Given the description of an element on the screen output the (x, y) to click on. 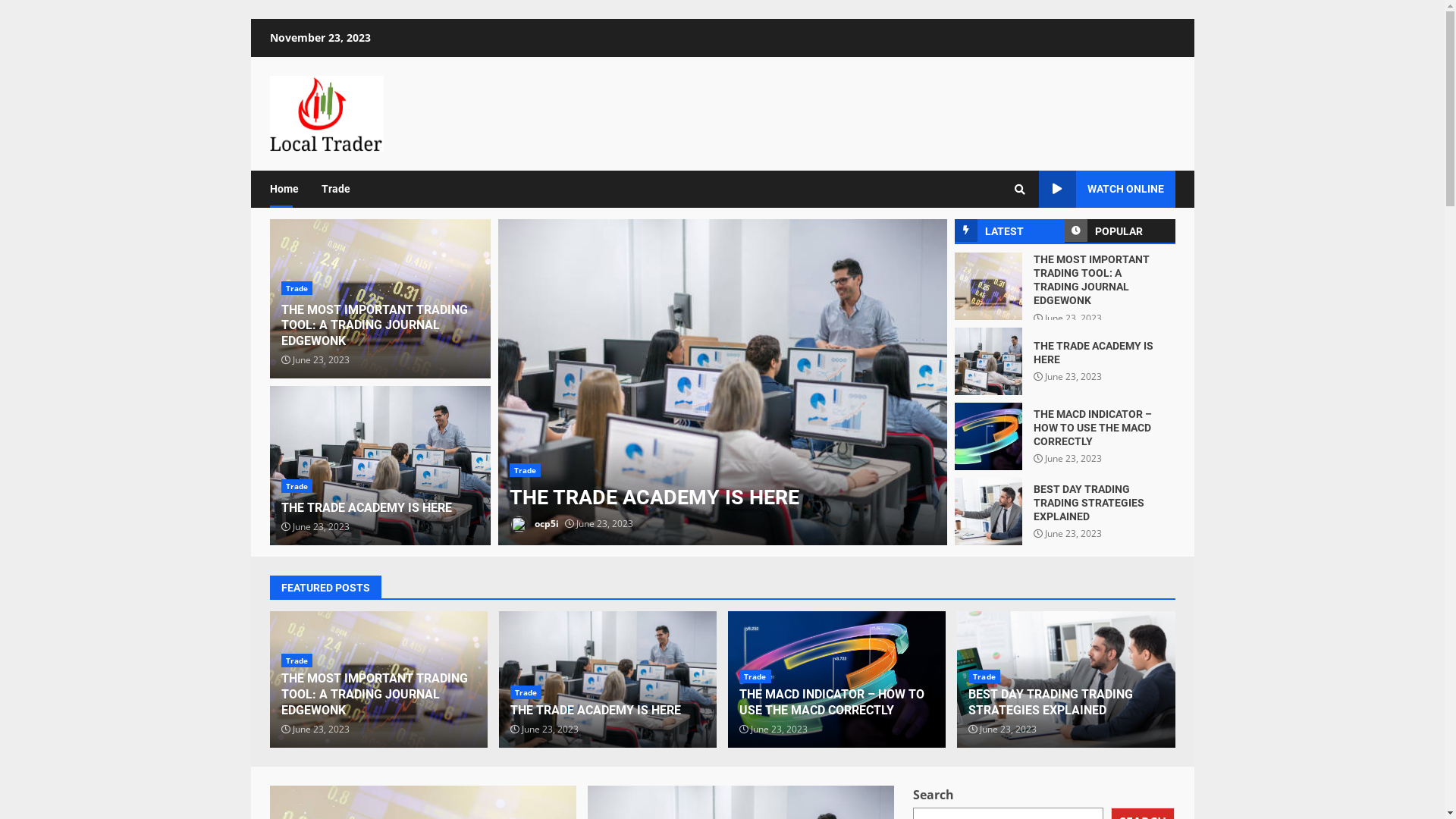
Trade Element type: text (296, 287)
BEST DAY TRADING TRADING STRATEGIES EXPLAINED Element type: text (1065, 679)
THE MOST IMPORTANT TRADING TOOL: A TRADING JOURNAL EDGEWONK Element type: text (378, 679)
Search Element type: text (991, 240)
THE MOST IMPORTANT TRADING TOOL: A TRADING JOURNAL EDGEWONK Element type: text (379, 298)
BEST DAY TRADING TRADING STRATEGIES EXPLAINED Element type: text (987, 511)
Trade Element type: text (296, 485)
Trade Element type: text (984, 676)
BEST DAY TRADING TRADING STRATEGIES EXPLAINED Element type: text (1087, 502)
THE TRADE ACADEMY IS HERE Element type: text (1092, 352)
THE TRADE ACADEMY IS HERE Element type: text (987, 361)
Home Element type: text (289, 188)
Trade Element type: text (755, 676)
WATCH ONLINE Element type: text (1106, 188)
Search Element type: hover (1019, 188)
THE TRADE ACADEMY IS HERE Element type: text (721, 382)
LATEST Element type: text (1008, 230)
Trade Element type: text (329, 188)
THE TRADE ACADEMY IS HERE Element type: text (607, 679)
THE TRADE ACADEMY IS HERE Element type: text (595, 709)
POPULAR Element type: text (1119, 230)
Trade Element type: text (296, 660)
THE MOST IMPORTANT TRADING TOOL: A TRADING JOURNAL EDGEWONK Element type: text (373, 694)
Trade Element type: text (526, 692)
THE MOST IMPORTANT TRADING TOOL: A TRADING JOURNAL EDGEWONK Element type: text (1090, 280)
Skip to content Element type: text (250, 18)
THE TRADE ACADEMY IS HERE Element type: text (365, 507)
THE TRADE ACADEMY IS HERE Element type: text (654, 497)
ocp5i Element type: text (533, 523)
BEST DAY TRADING TRADING STRATEGIES EXPLAINED Element type: text (1050, 702)
Trade Element type: text (525, 469)
THE MOST IMPORTANT TRADING TOOL: A TRADING JOURNAL EDGEWONK Element type: text (373, 325)
THE TRADE ACADEMY IS HERE Element type: text (379, 465)
THE MOST IMPORTANT TRADING TOOL: A TRADING JOURNAL EDGEWONK Element type: text (987, 286)
